Given the description of an element on the screen output the (x, y) to click on. 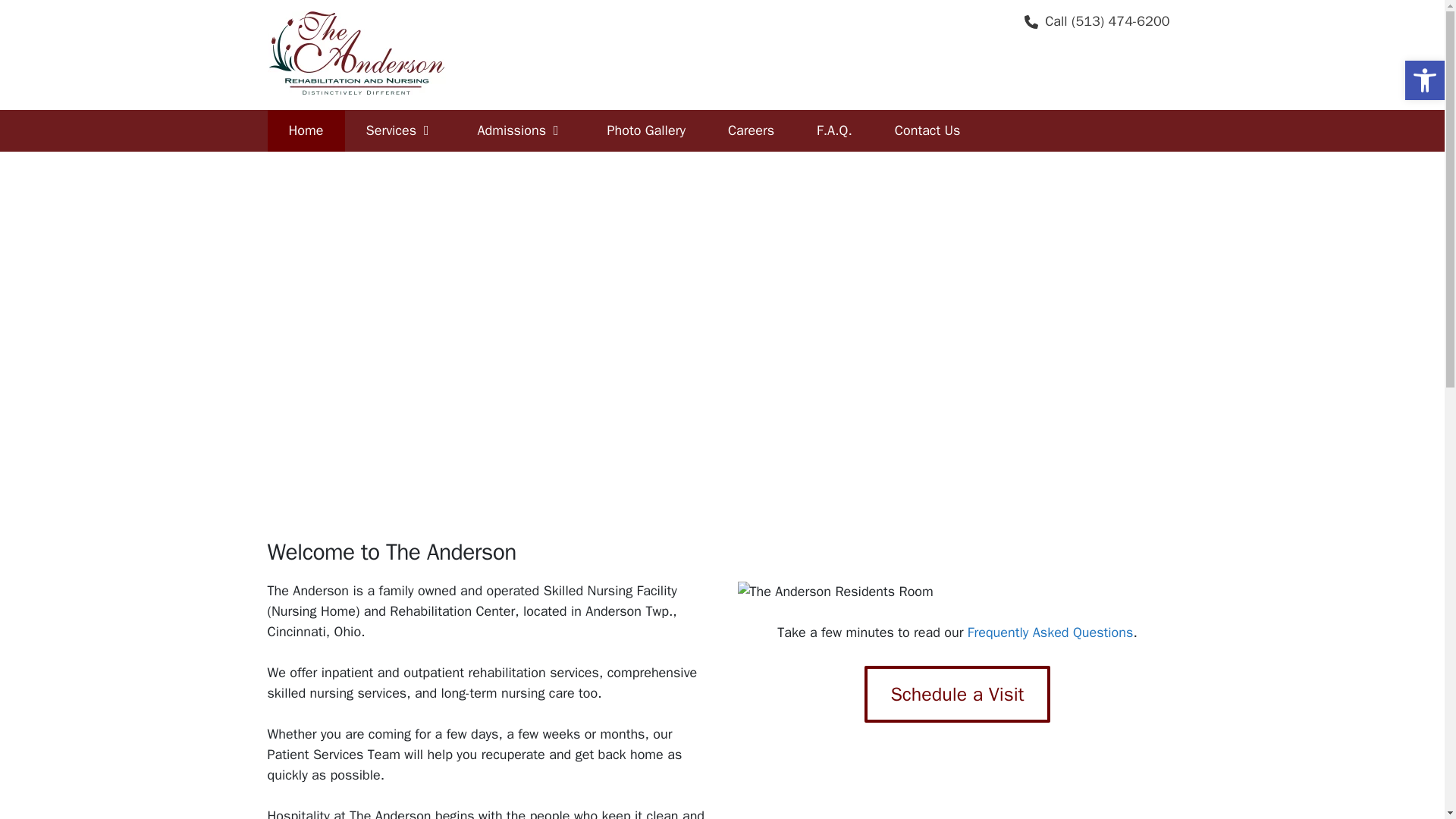
Accessibility Tools (1424, 79)
Frequently Asked Questions (833, 130)
Nursing Home Admissions (520, 130)
Nursing Home Services (401, 130)
Home (304, 130)
Services (401, 130)
Photos of the Nursing Home (645, 130)
Admissions (520, 130)
The Anderson Nursing Home (304, 130)
